Given the description of an element on the screen output the (x, y) to click on. 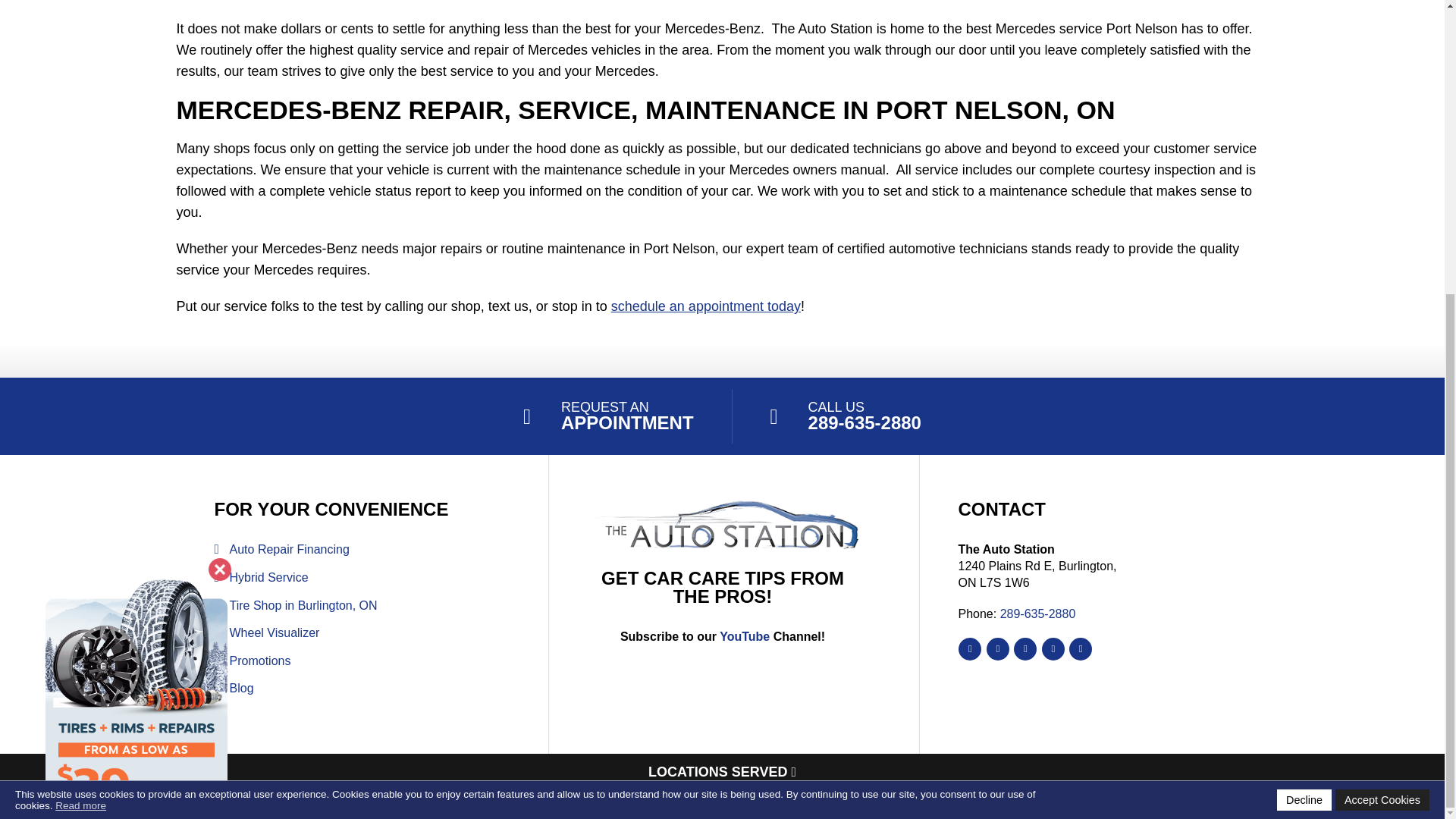
Accept Cookies (1382, 347)
Read more (80, 353)
Decline (1304, 347)
